Given the description of an element on the screen output the (x, y) to click on. 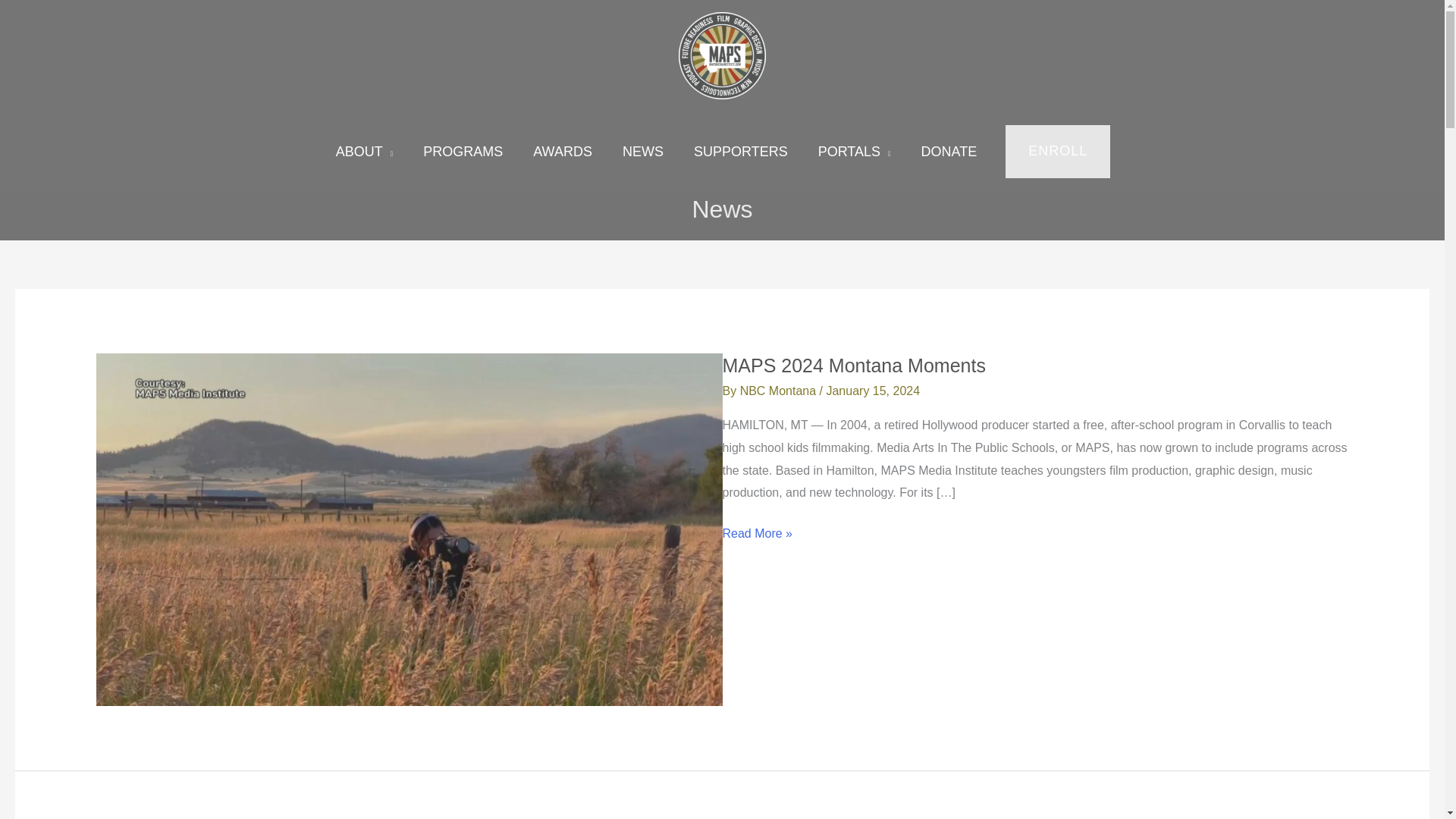
MAPS 2024 Montana Moments (853, 364)
ENROLL (1057, 151)
View all posts by NBC Montana (779, 390)
PROGRAMS (462, 151)
AWARDS (562, 151)
SUPPORTERS (740, 151)
ABOUT (364, 151)
NEWS (642, 151)
DONATE (948, 151)
PORTALS (854, 151)
NBC Montana (779, 390)
